Given the description of an element on the screen output the (x, y) to click on. 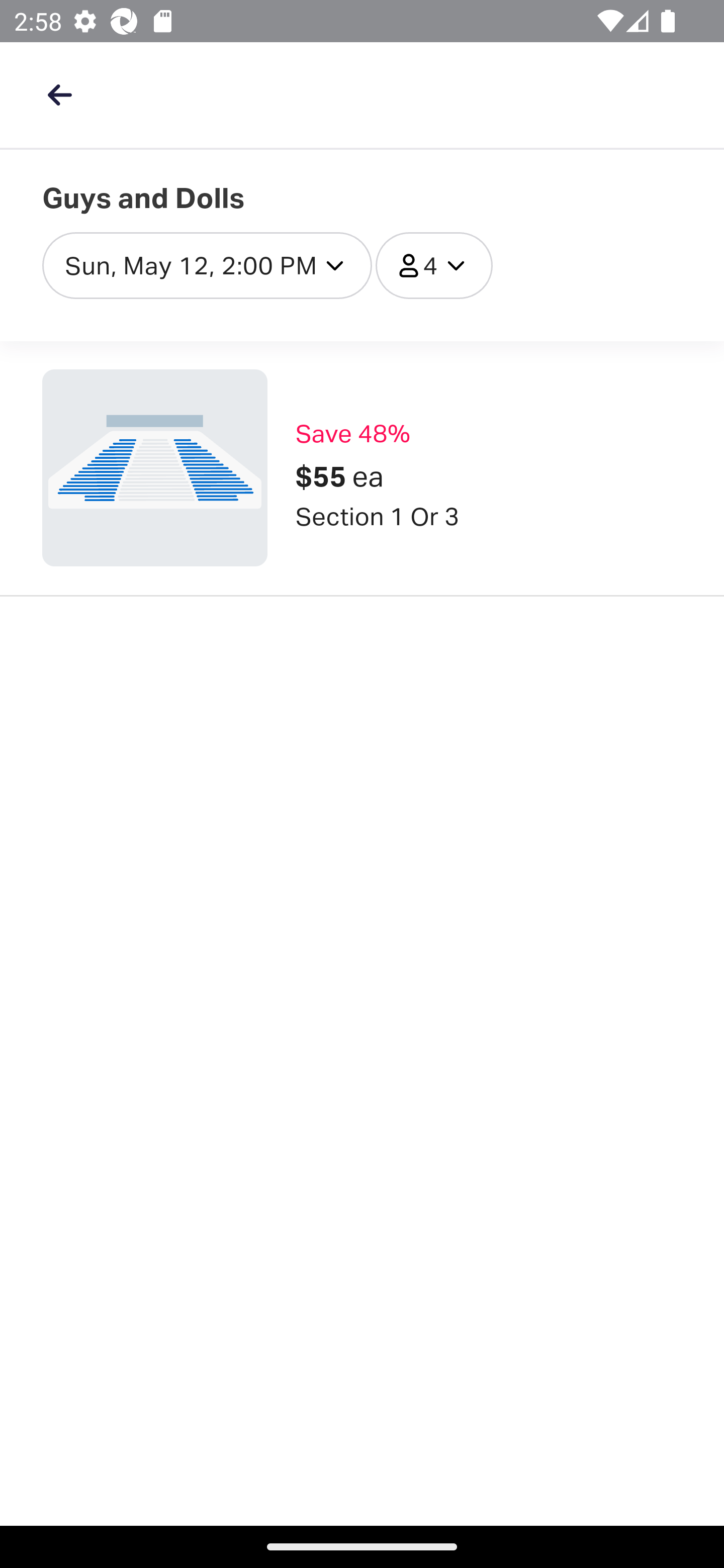
back button (59, 94)
Sun, May 12, 2:00 PM (206, 265)
4 (434, 265)
Save 48% $55ea Section 1 Or 3 (362, 468)
